Given the description of an element on the screen output the (x, y) to click on. 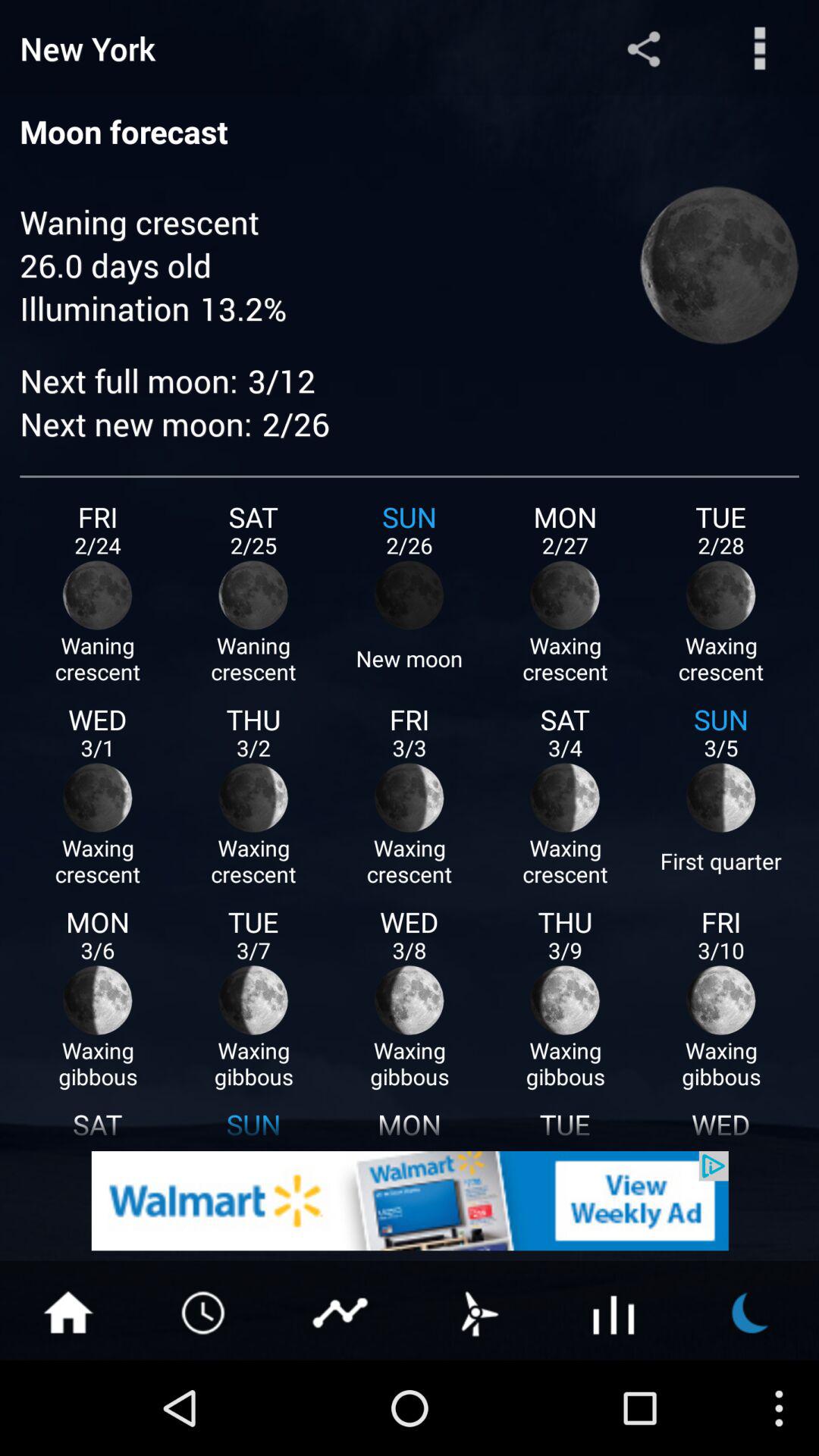
button to see statistics (614, 1311)
